Given the description of an element on the screen output the (x, y) to click on. 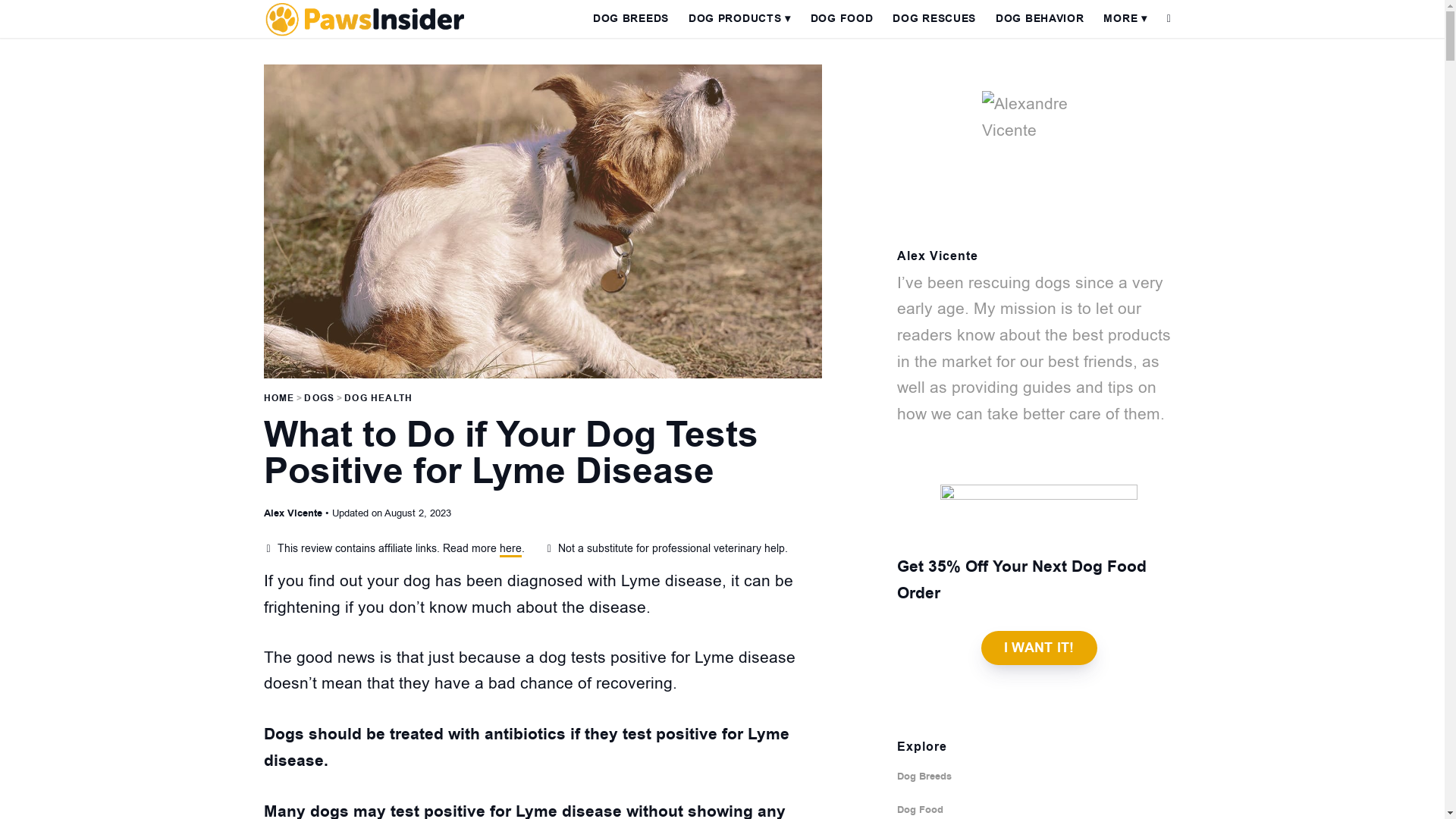
Paws Insider logo (364, 18)
DOGS (319, 398)
MORE (1124, 18)
HOME (279, 398)
here (510, 549)
DOG RESCUES (933, 18)
Alex Vicente (292, 513)
DOG BREEDS (630, 18)
DOG BEHAVIOR (1039, 18)
DOG PRODUCTS (739, 18)
DOG FOOD (841, 18)
DOG HEALTH (377, 398)
